Given the description of an element on the screen output the (x, y) to click on. 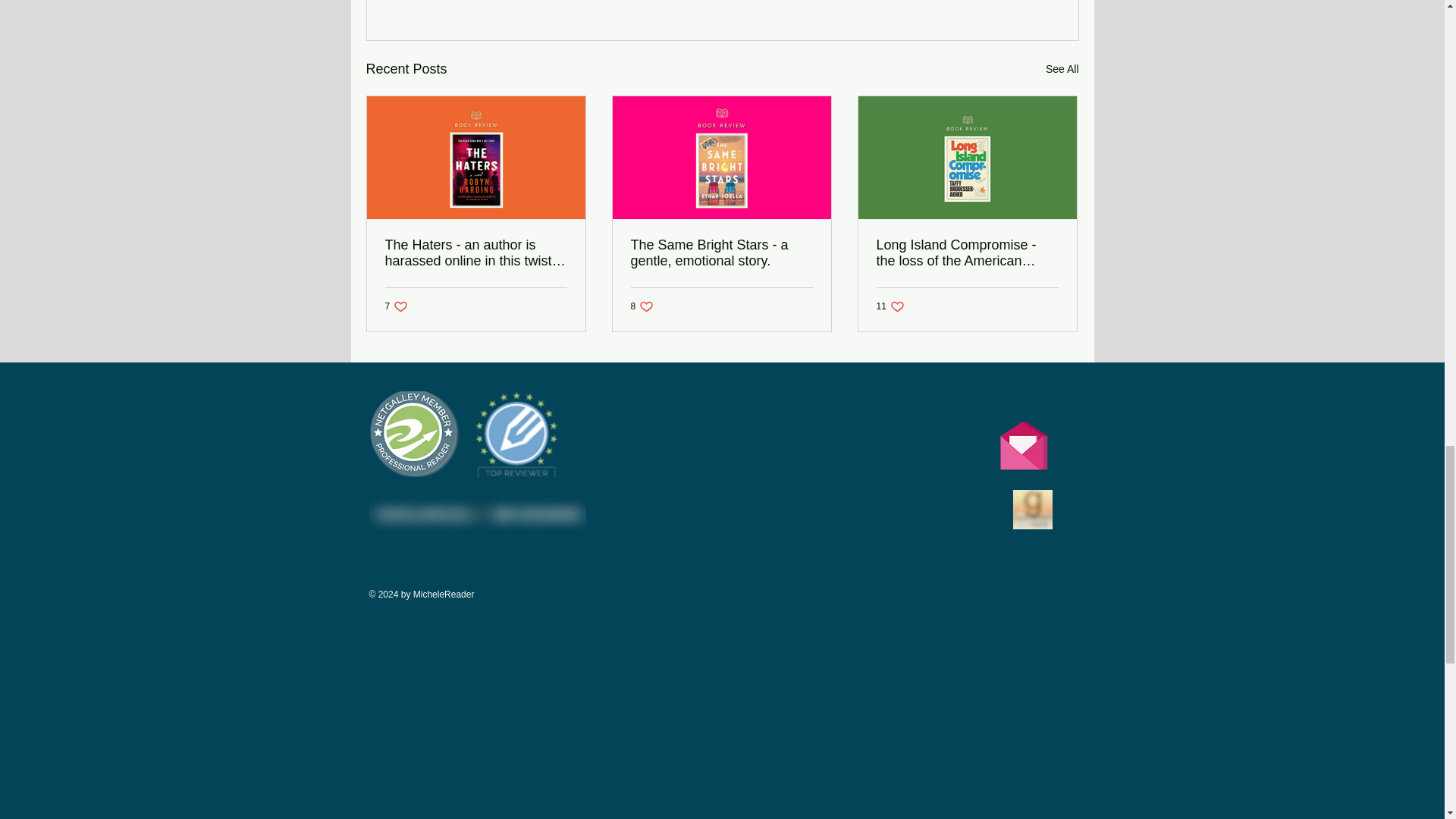
The Same Bright Stars - a gentle, emotional story. (641, 306)
See All (721, 253)
Long Island Compromise - the loss of the American Dream. (397, 306)
